Given the description of an element on the screen output the (x, y) to click on. 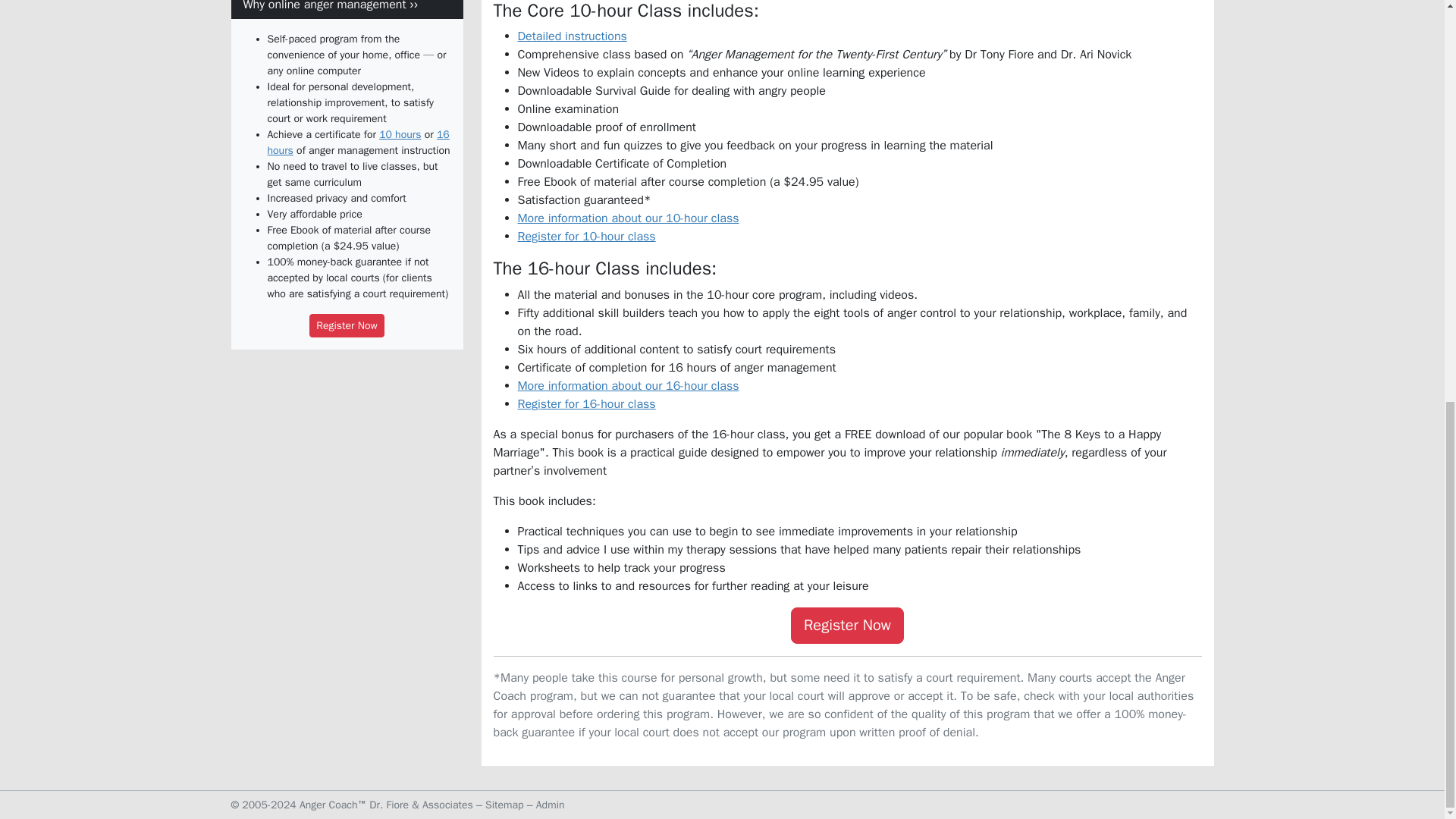
Register Now (847, 625)
Detailed instructions (571, 36)
Register for 16-hour class (585, 403)
Admin (549, 804)
Register Now (346, 325)
Sitemap (504, 804)
More information about our 10-hour class (627, 218)
10 hours (399, 133)
16 hours (357, 142)
Register for 10-hour class (585, 236)
